Given the description of an element on the screen output the (x, y) to click on. 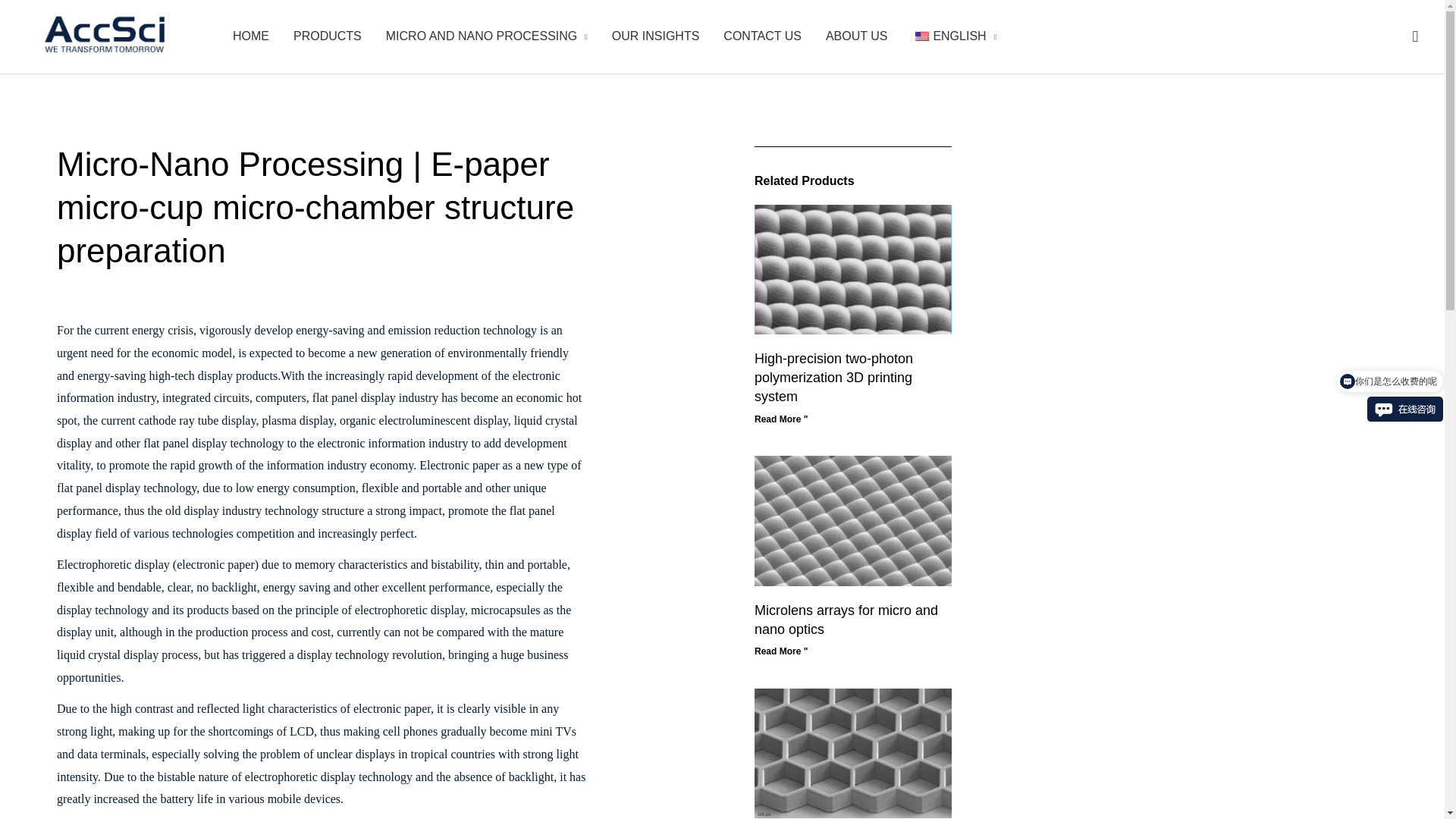
PRODUCTS (327, 36)
CONTACT US (762, 36)
MICRO AND NANO PROCESSING (486, 36)
ENGLISH (954, 36)
HOME (251, 36)
ABOUT US (856, 36)
OUR INSIGHTS (655, 36)
English (921, 35)
